Given the description of an element on the screen output the (x, y) to click on. 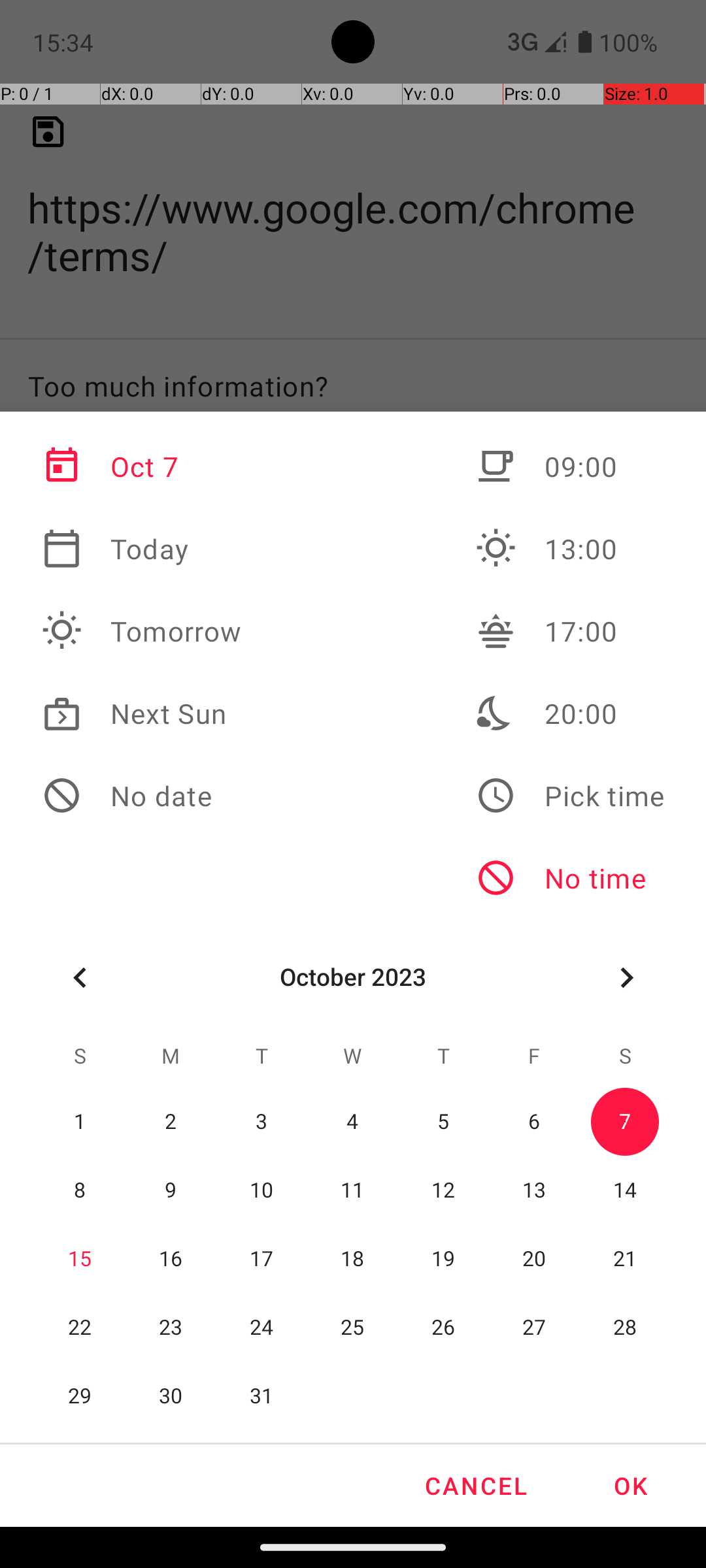
CANCEL Element type: android.widget.Button (474, 1485)
OK Element type: android.widget.Button (630, 1485)
Previous month Element type: android.widget.ImageButton (79, 977)
Next month Element type: android.widget.ImageButton (626, 977)
Oct 7 Element type: android.widget.CompoundButton (141, 466)
Today Element type: android.widget.CompoundButton (141, 548)
Tomorrow Element type: android.widget.CompoundButton (141, 630)
Next Sun Element type: android.widget.CompoundButton (141, 713)
No date Element type: android.widget.CompoundButton (141, 795)
09:00 Element type: android.widget.CompoundButton (569, 466)
13:00 Element type: android.widget.CompoundButton (569, 548)
17:00 Element type: android.widget.CompoundButton (569, 630)
20:00 Element type: android.widget.CompoundButton (569, 713)
Pick time Element type: android.widget.CompoundButton (569, 795)
No time Element type: android.widget.CompoundButton (569, 877)
1 Element type: android.view.View (79, 1121)
2 Element type: android.view.View (170, 1121)
3 Element type: android.view.View (261, 1121)
4 Element type: android.view.View (352, 1121)
5 Element type: android.view.View (443, 1121)
6 Element type: android.view.View (533, 1121)
7 Element type: android.view.View (624, 1121)
8 Element type: android.view.View (79, 1190)
9 Element type: android.view.View (170, 1190)
10 Element type: android.view.View (261, 1190)
11 Element type: android.view.View (352, 1190)
12 Element type: android.view.View (443, 1190)
13 Element type: android.view.View (533, 1190)
14 Element type: android.view.View (624, 1190)
15 Element type: android.view.View (79, 1259)
16 Element type: android.view.View (170, 1259)
17 Element type: android.view.View (261, 1259)
18 Element type: android.view.View (352, 1259)
19 Element type: android.view.View (443, 1259)
20 Element type: android.view.View (533, 1259)
21 Element type: android.view.View (624, 1259)
22 Element type: android.view.View (79, 1327)
23 Element type: android.view.View (170, 1327)
24 Element type: android.view.View (261, 1327)
25 Element type: android.view.View (352, 1327)
26 Element type: android.view.View (443, 1327)
27 Element type: android.view.View (533, 1327)
28 Element type: android.view.View (624, 1327)
29 Element type: android.view.View (79, 1396)
30 Element type: android.view.View (170, 1396)
31 Element type: android.view.View (261, 1396)
